Given the description of an element on the screen output the (x, y) to click on. 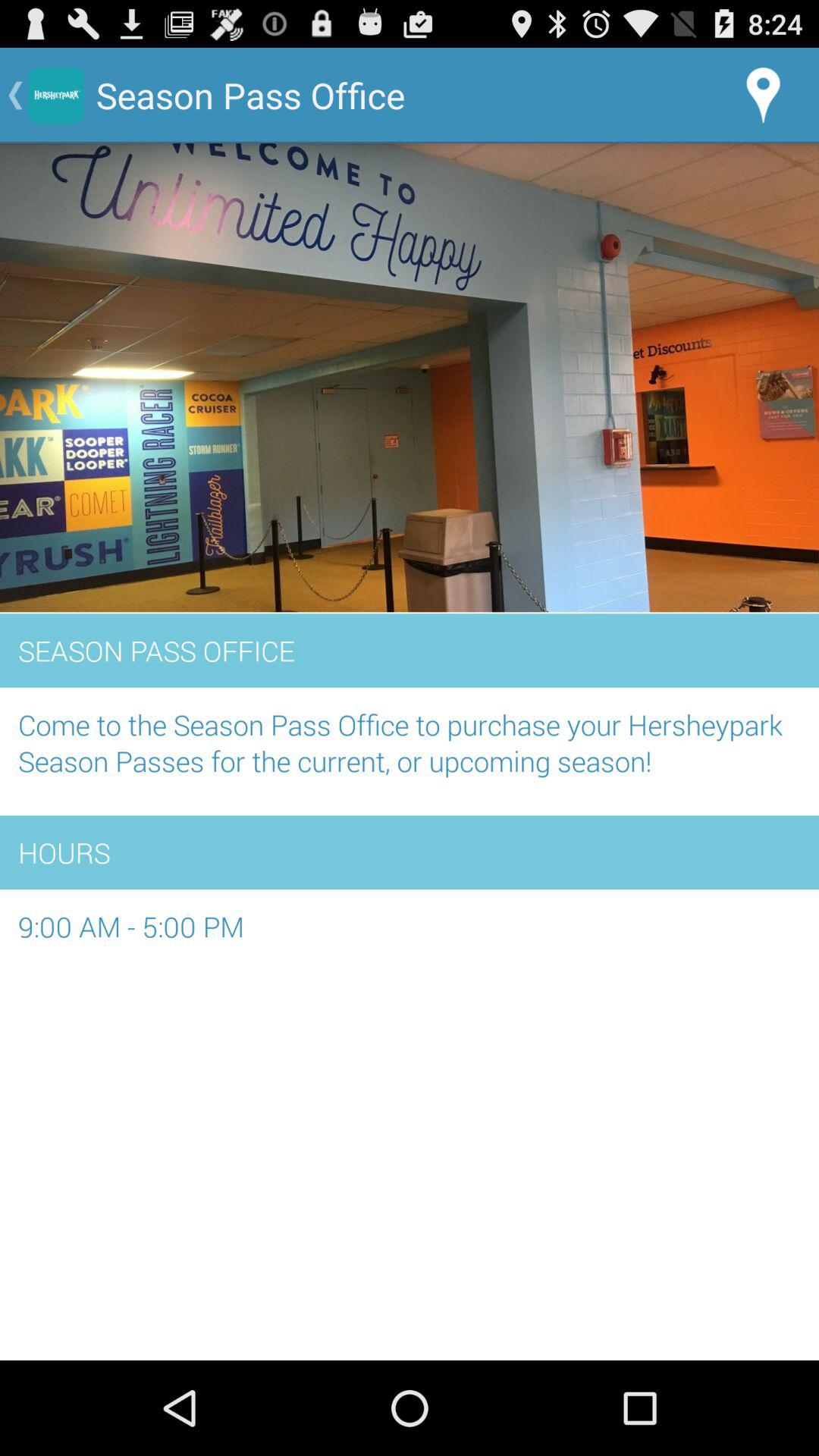
open app below the come to the item (409, 852)
